Given the description of an element on the screen output the (x, y) to click on. 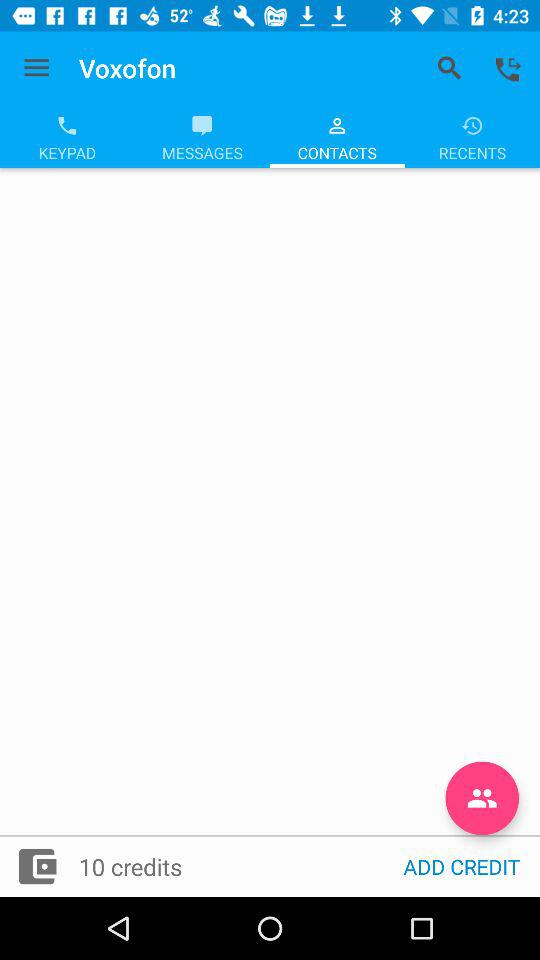
click icon next to voxofon item (36, 68)
